Given the description of an element on the screen output the (x, y) to click on. 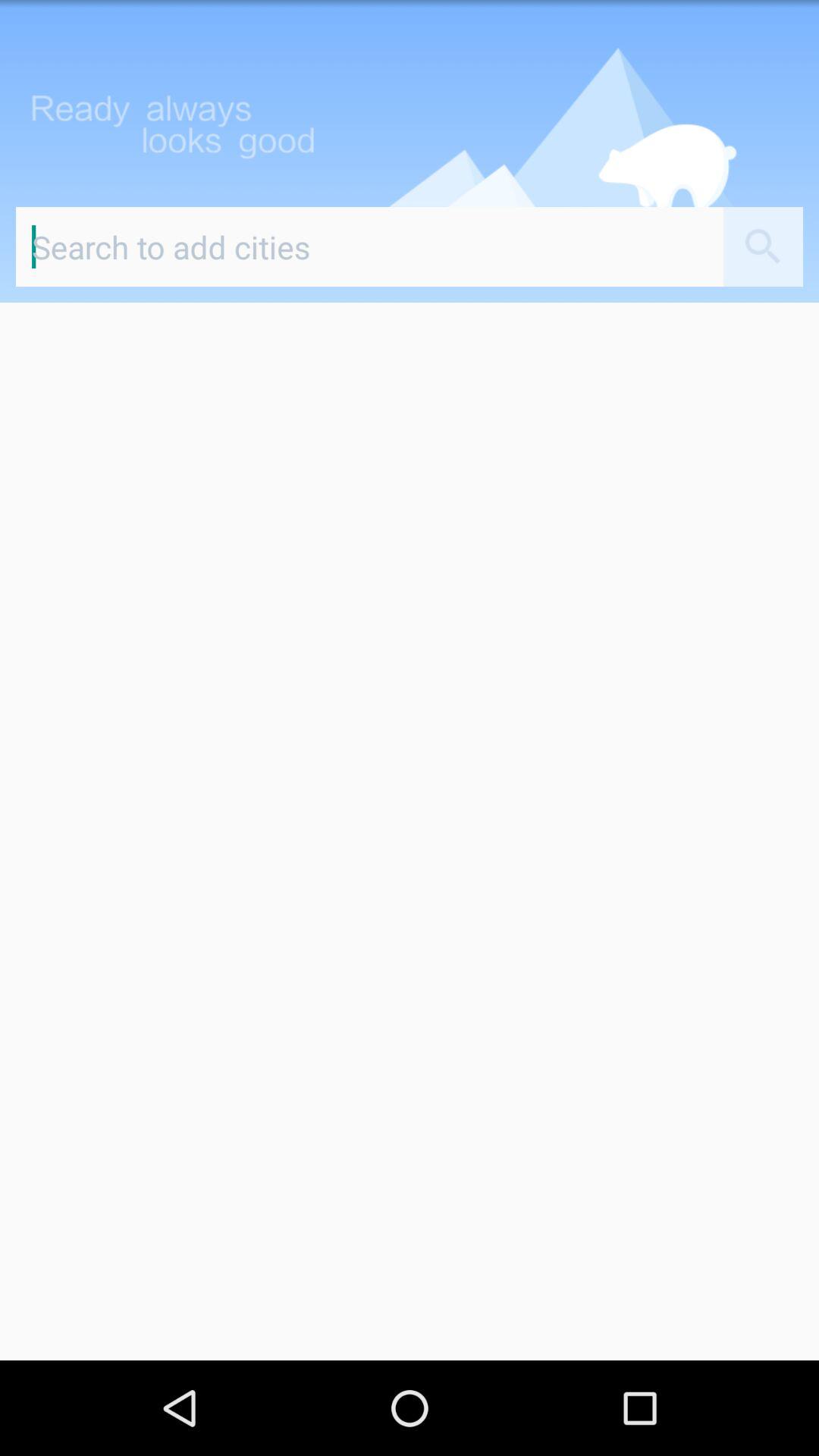
search (369, 246)
